Given the description of an element on the screen output the (x, y) to click on. 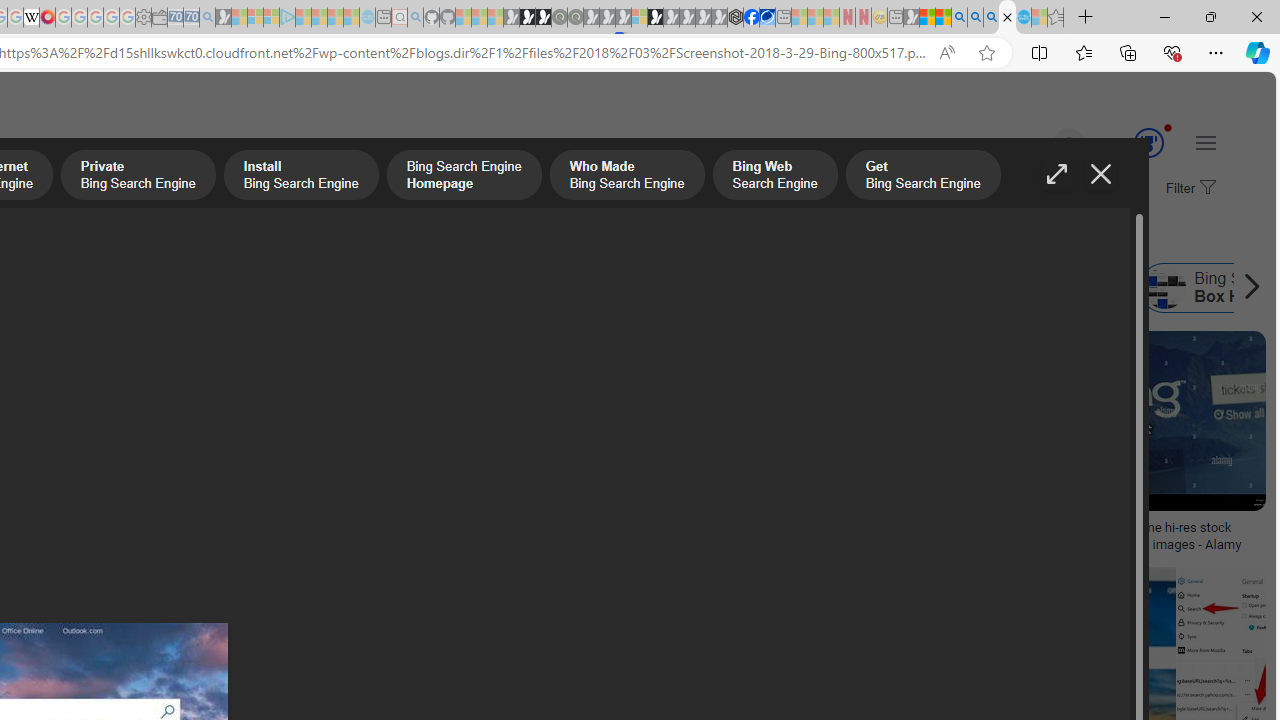
Animation (1167, 127)
Image result for Bing Search Site (1154, 421)
Bing Search Engine Homepage (740, 287)
Mugs (132, 521)
Bing Best Search Engine (173, 287)
Services - Maintenance | Sky Blue Bikes - Sky Blue Bikes (1023, 17)
Get Bing Search Engine (922, 177)
